Given the description of an element on the screen output the (x, y) to click on. 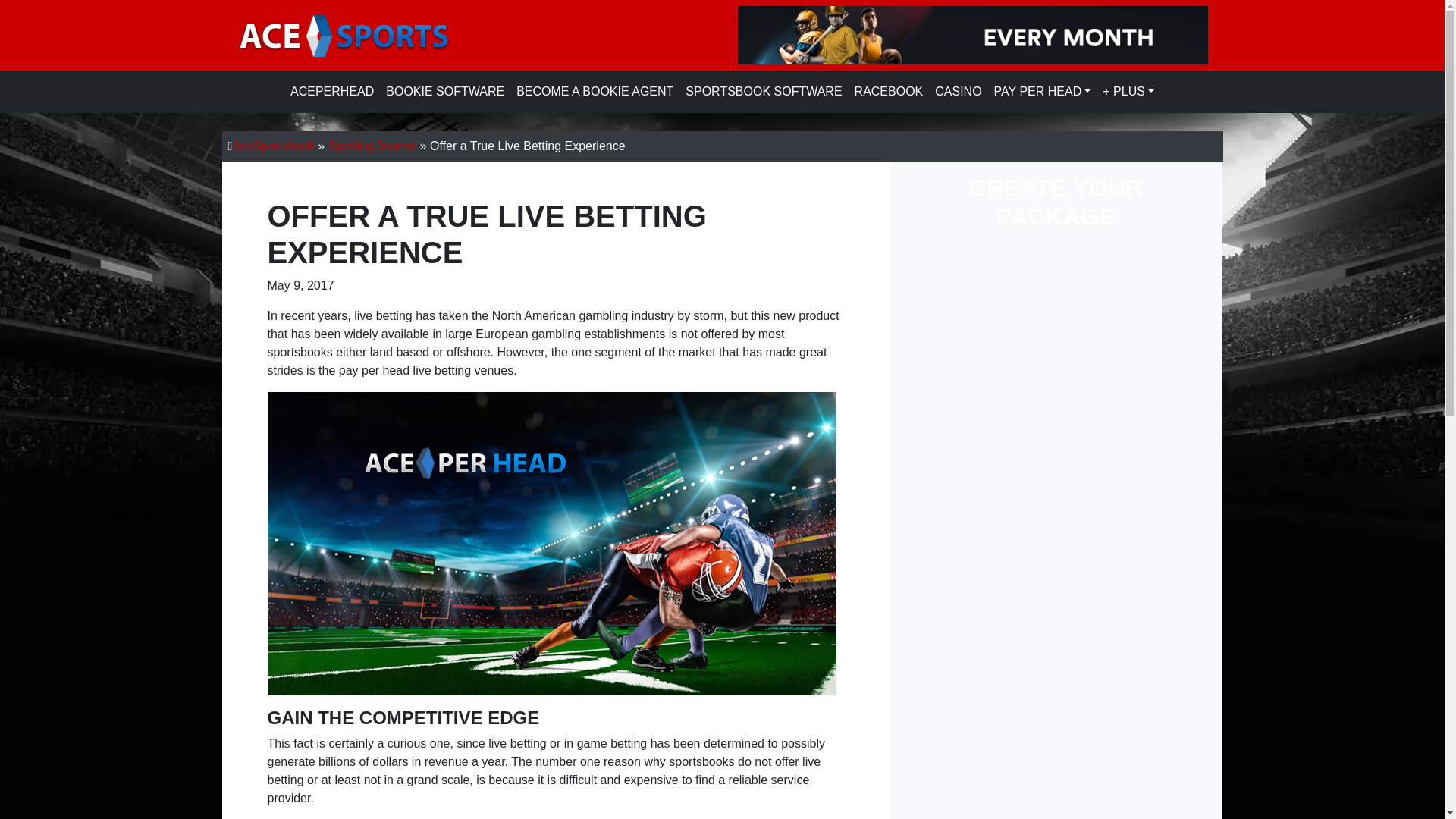
Sportsbook (763, 91)
PAY PER HEAD (1042, 91)
Sporting Journal (372, 146)
Horse Gambling at Ace (889, 91)
CASINO (957, 91)
RACEBOOK (889, 91)
BECOME A BOOKIE AGENT (595, 91)
SPORTSBOOK SOFTWARE (763, 91)
BOOKIE SOFTWARE (445, 91)
AceSportsbook (272, 145)
ACEPERHEAD (331, 91)
